Given the description of an element on the screen output the (x, y) to click on. 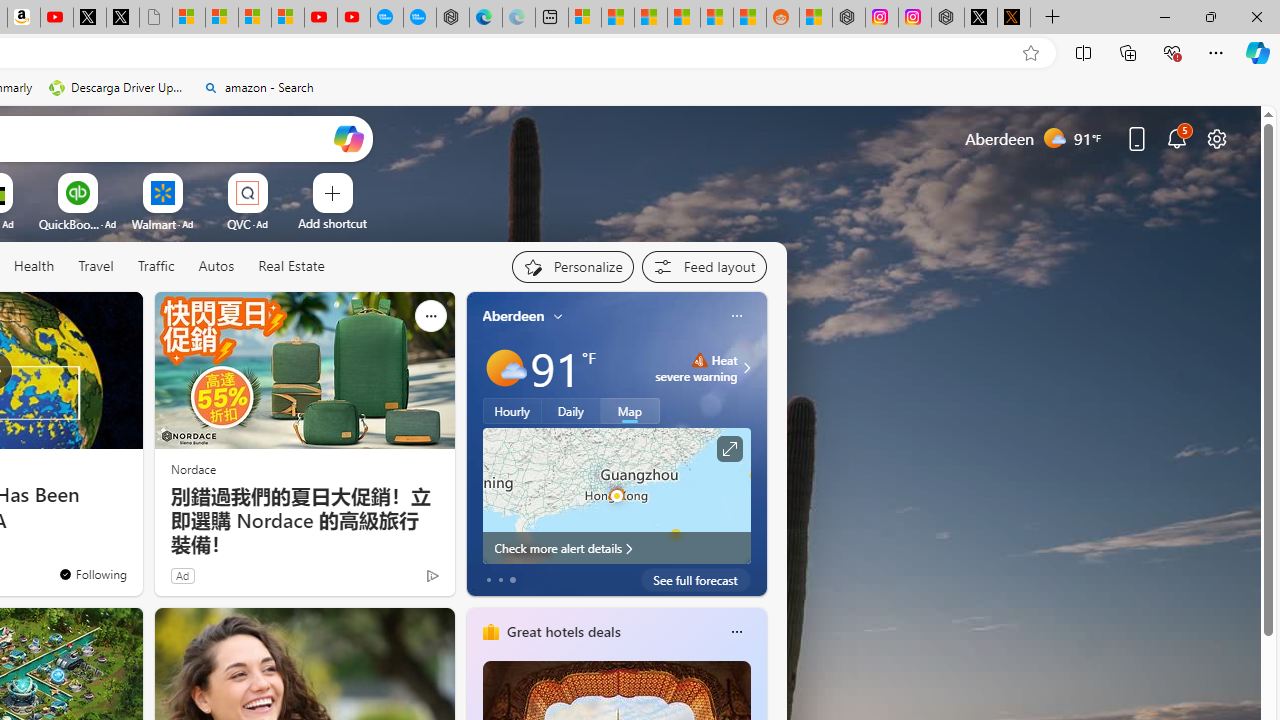
Day 1: Arriving in Yemen (surreal to be here) - YouTube (56, 17)
Mostly sunny (504, 368)
Feed settings (703, 266)
Heat - Severe Heat severe warning (696, 367)
Aberdeen (513, 315)
Class: weather-arrow-glyph (746, 367)
Nordace - Nordace has arrived Hong Kong (452, 17)
